Given the description of an element on the screen output the (x, y) to click on. 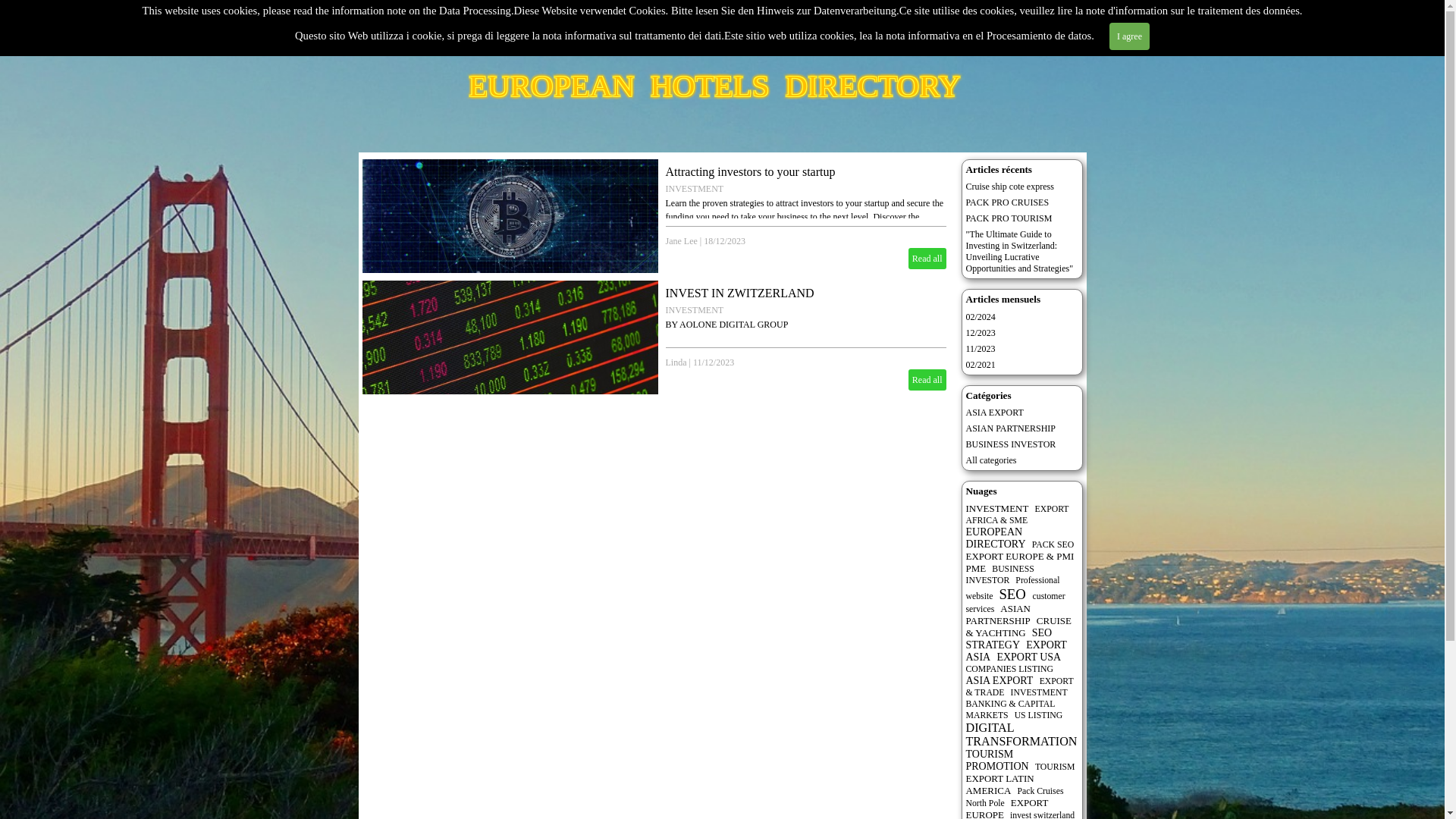
Conditions (809, 26)
Blog (983, 26)
Country (547, 26)
PACK PRO TOURISM (1009, 217)
Attracting investors to your startup (750, 171)
Cruise ship cote express (1010, 185)
Home (460, 26)
Read all (927, 379)
PACK PRO CRUISES (1007, 202)
INVESTMENT (694, 309)
INVEST IN ZWITZERLAND (739, 292)
Read all (927, 258)
Join Free (635, 26)
Jane Lee (681, 240)
